Given the description of an element on the screen output the (x, y) to click on. 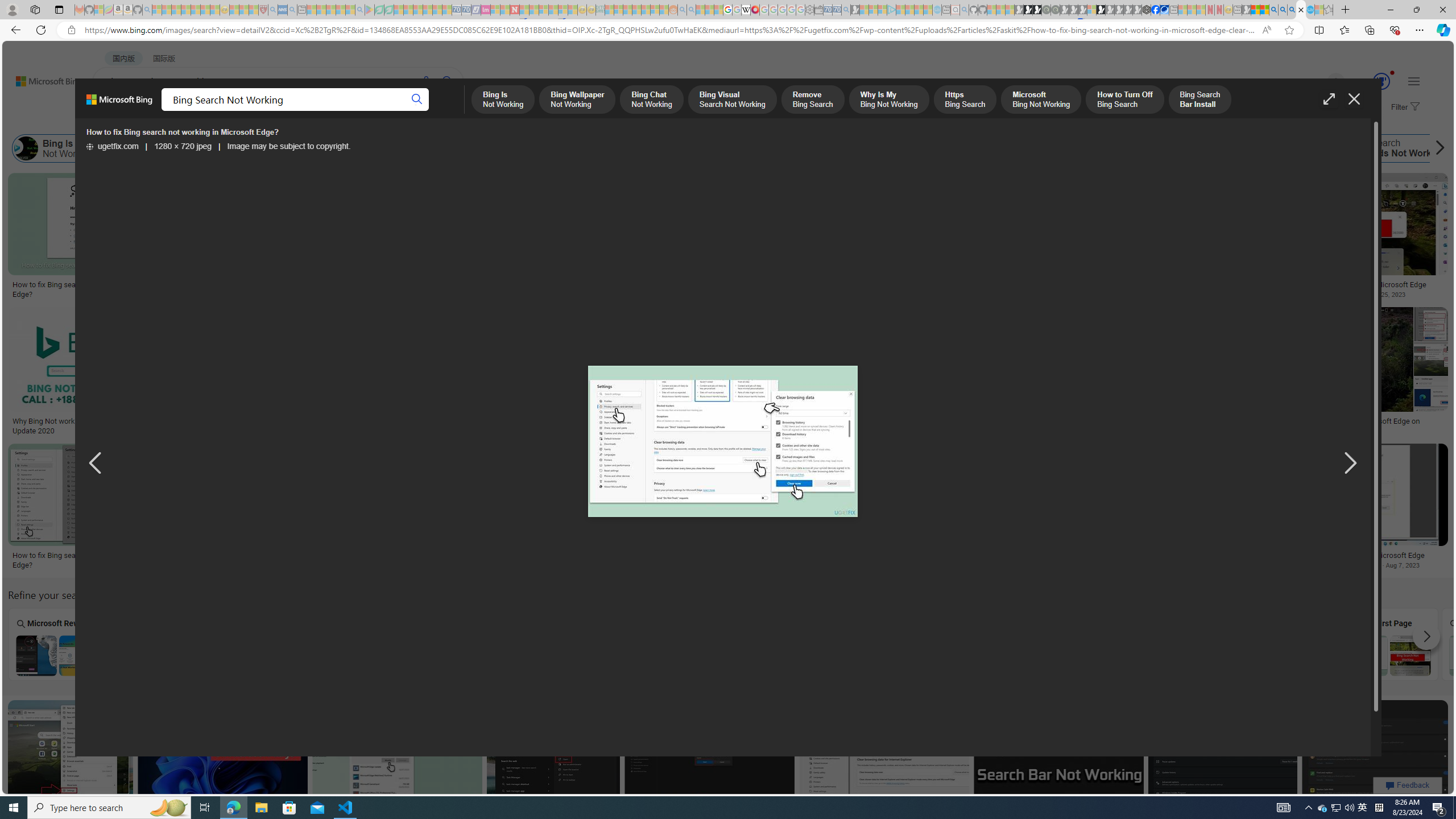
Bing Video Search Not Working Video (877, 643)
Kinda Frugal - MSN - Sleeping (645, 9)
How to Turn Off Bing Search (879, 148)
DITOGAMES AG Imprint - Sleeping (600, 9)
Bing Search Bar Not Working (1080, 655)
Scroll more suggestions right (1426, 636)
Microsoft Bing Not Working (769, 148)
Bing Is Not Working (25, 148)
How to fix Bing search not working in Microsoft Edge? (1023, 560)
